Given the description of an element on the screen output the (x, y) to click on. 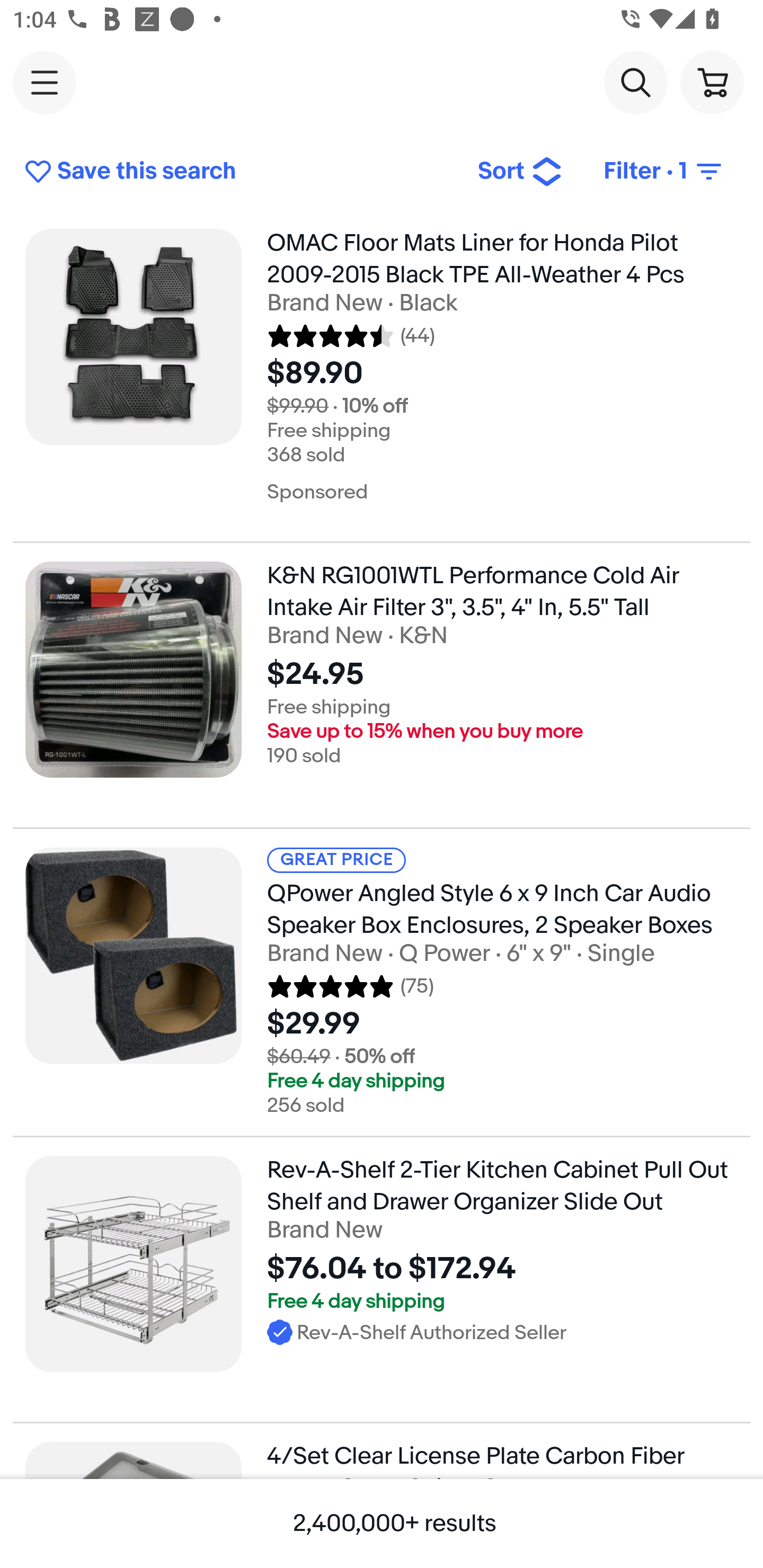
Main navigation, open (44, 82)
Search (635, 81)
Cart button shopping cart (711, 81)
Save this search (237, 171)
Sort (520, 171)
Filter • 1 Filter (1 applied) (663, 171)
